Given the description of an element on the screen output the (x, y) to click on. 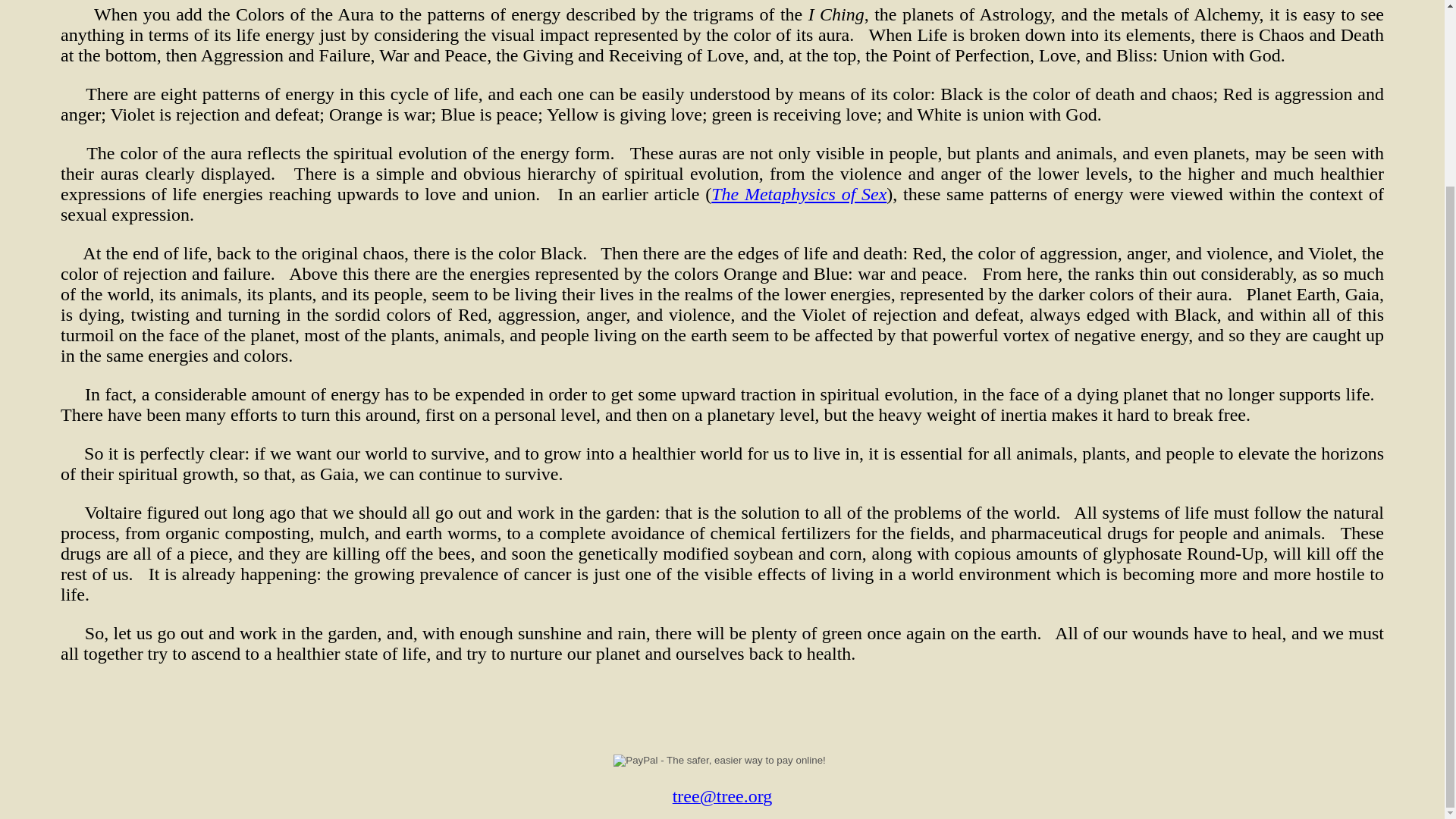
The Metaphysics of Sex (798, 193)
